Given the description of an element on the screen output the (x, y) to click on. 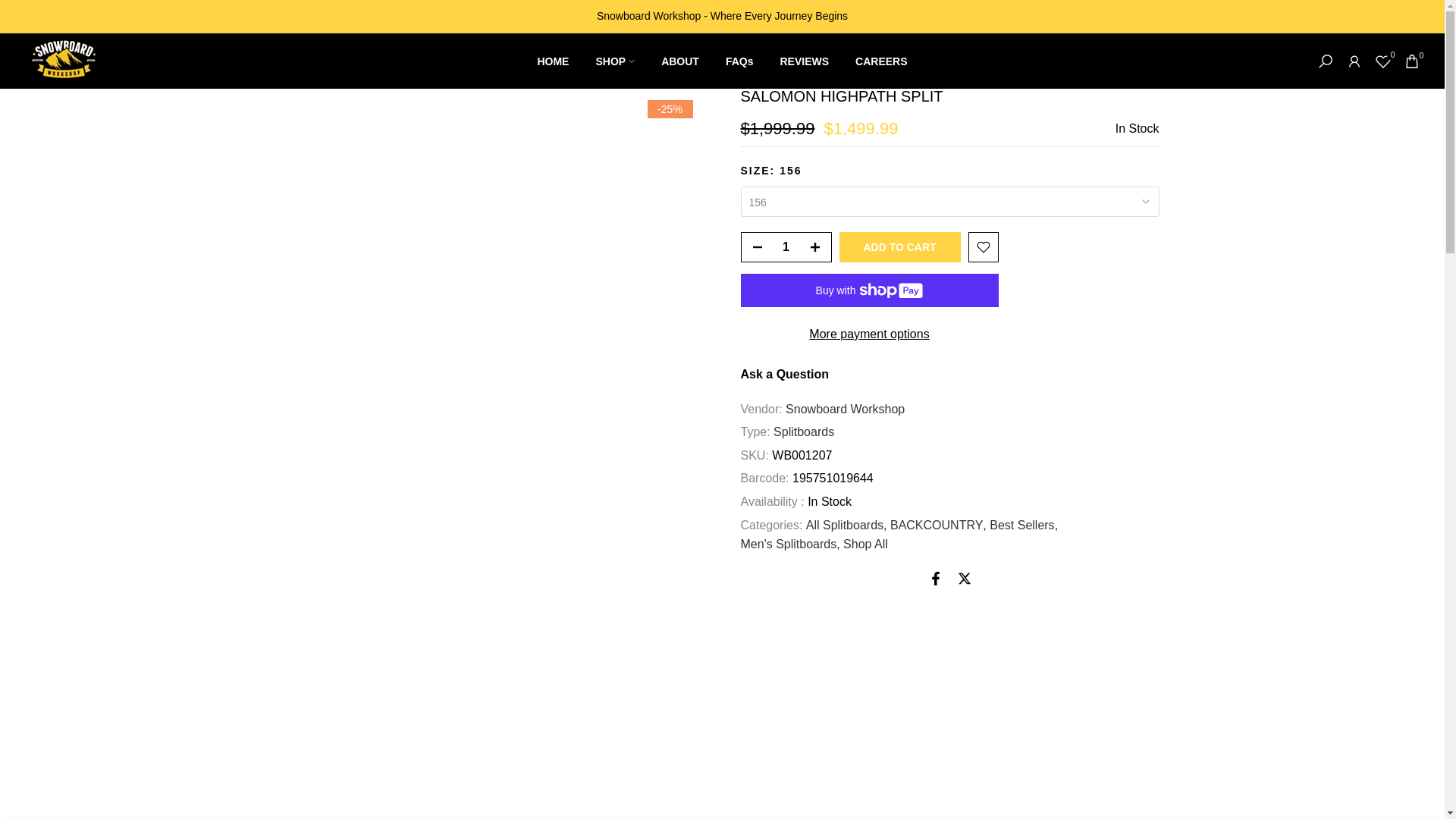
0 (1382, 61)
All Splitboards (846, 525)
0 (1412, 61)
More payment options (868, 334)
CAREERS (881, 61)
ADD TO CART (898, 246)
156 (948, 201)
Best Sellers (1024, 525)
ABOUT (680, 61)
HOME (553, 61)
